Given the description of an element on the screen output the (x, y) to click on. 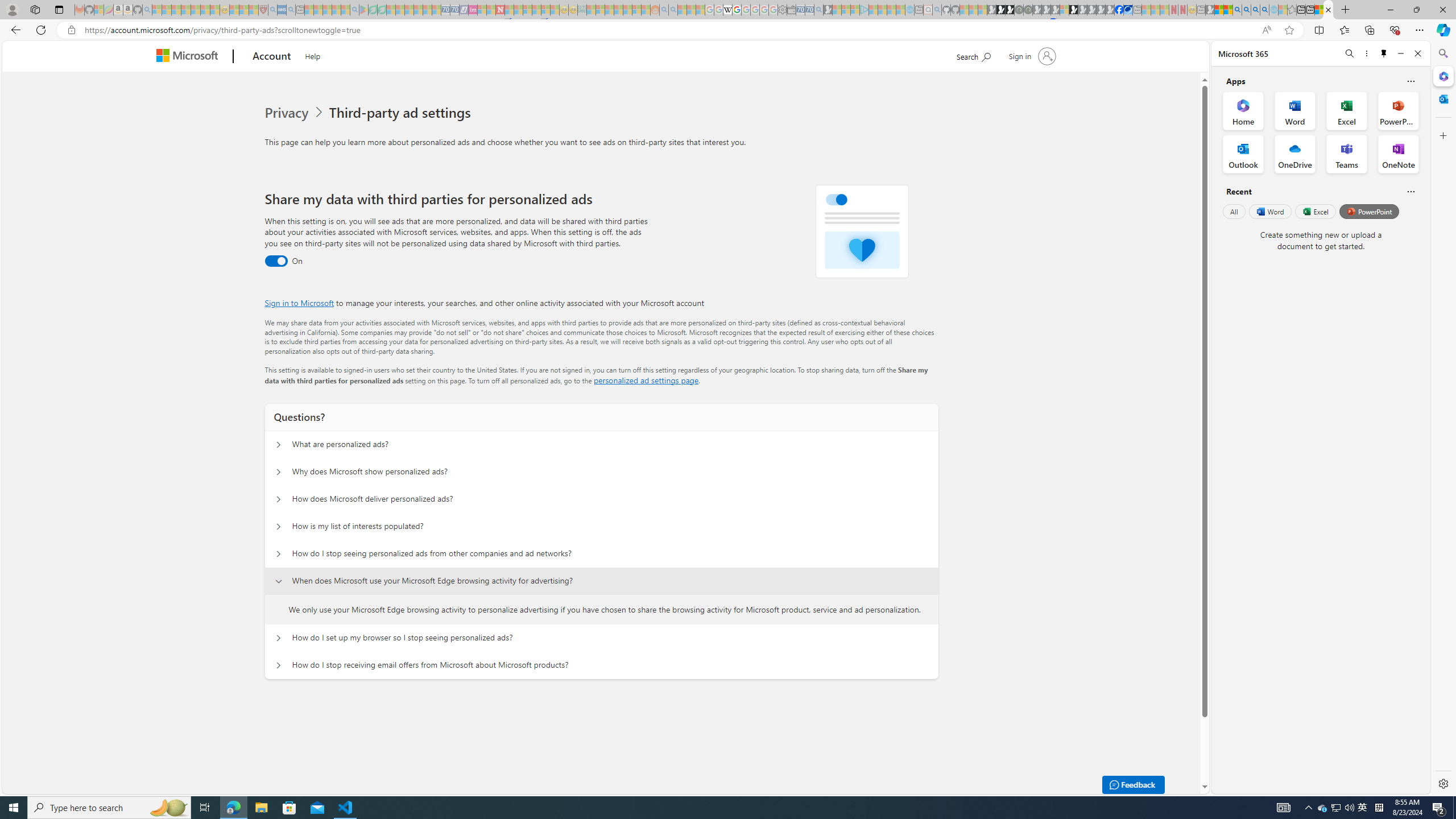
personalized ad settings page (645, 379)
Sign in to your account - Sleeping (1064, 9)
Favorites - Sleeping (1291, 9)
MSNBC - MSN - Sleeping (590, 9)
Google Chrome Internet Browser Download - Search Images (1264, 9)
DITOGAMES AG Imprint - Sleeping (581, 9)
